Given the description of an element on the screen output the (x, y) to click on. 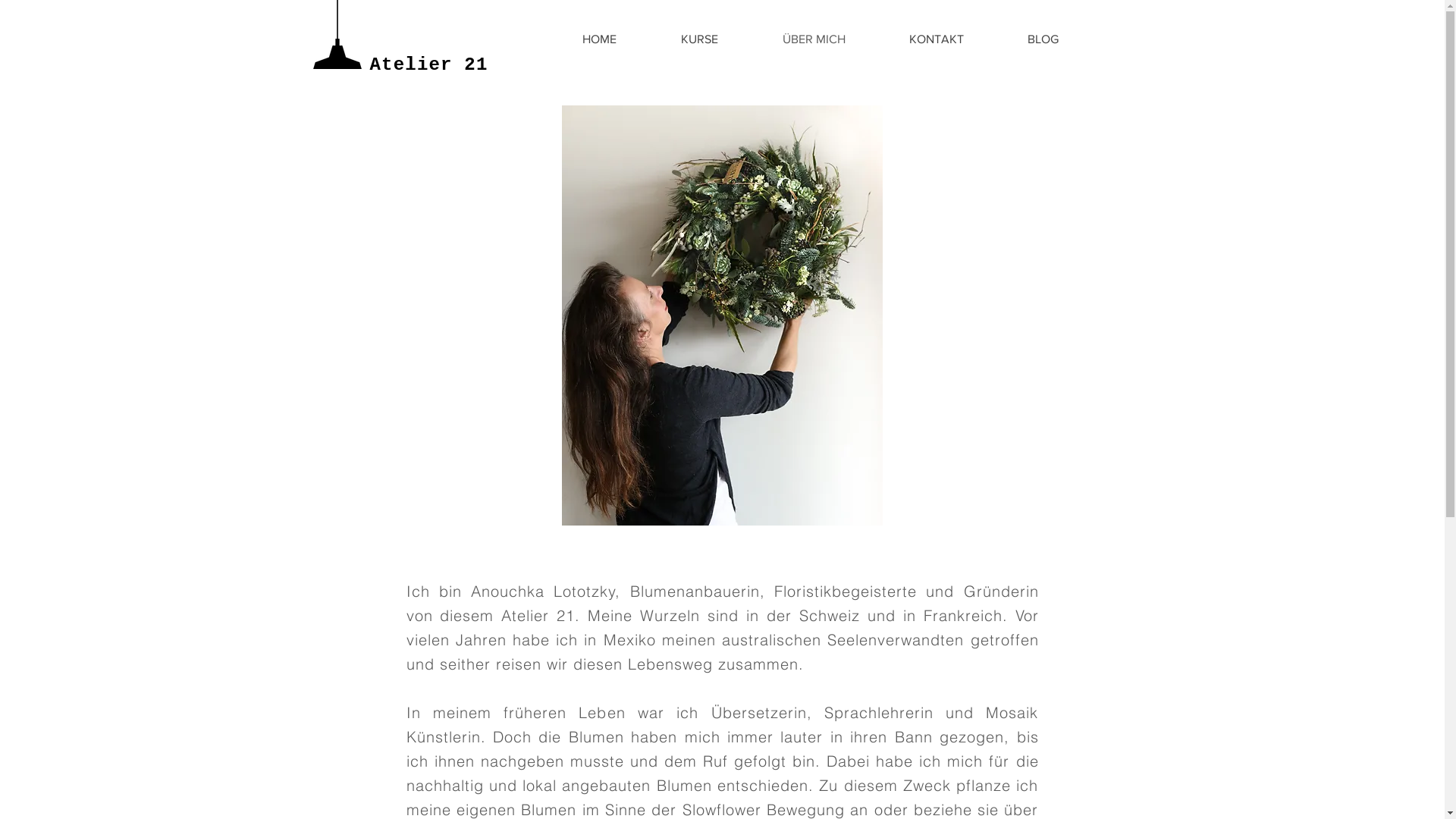
KONTAKT Element type: text (935, 39)
BLOG Element type: text (1041, 39)
HOME Element type: text (599, 39)
anouchka_and_the_sun2.jpg Element type: hover (721, 315)
